Given the description of an element on the screen output the (x, y) to click on. 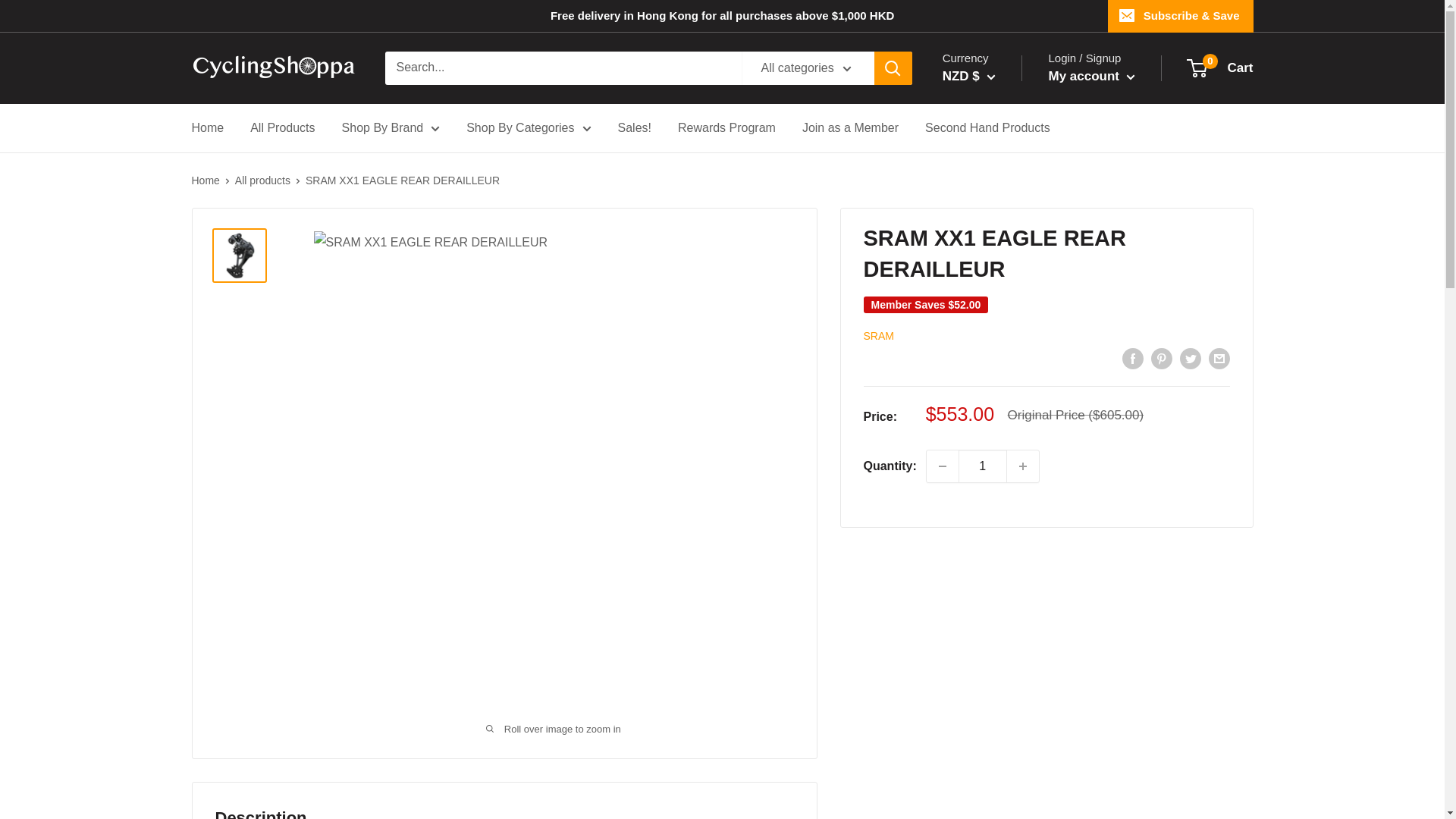
Increase quantity by 1 (1023, 466)
1 (982, 466)
Decrease quantity by 1 (942, 466)
